Given the description of an element on the screen output the (x, y) to click on. 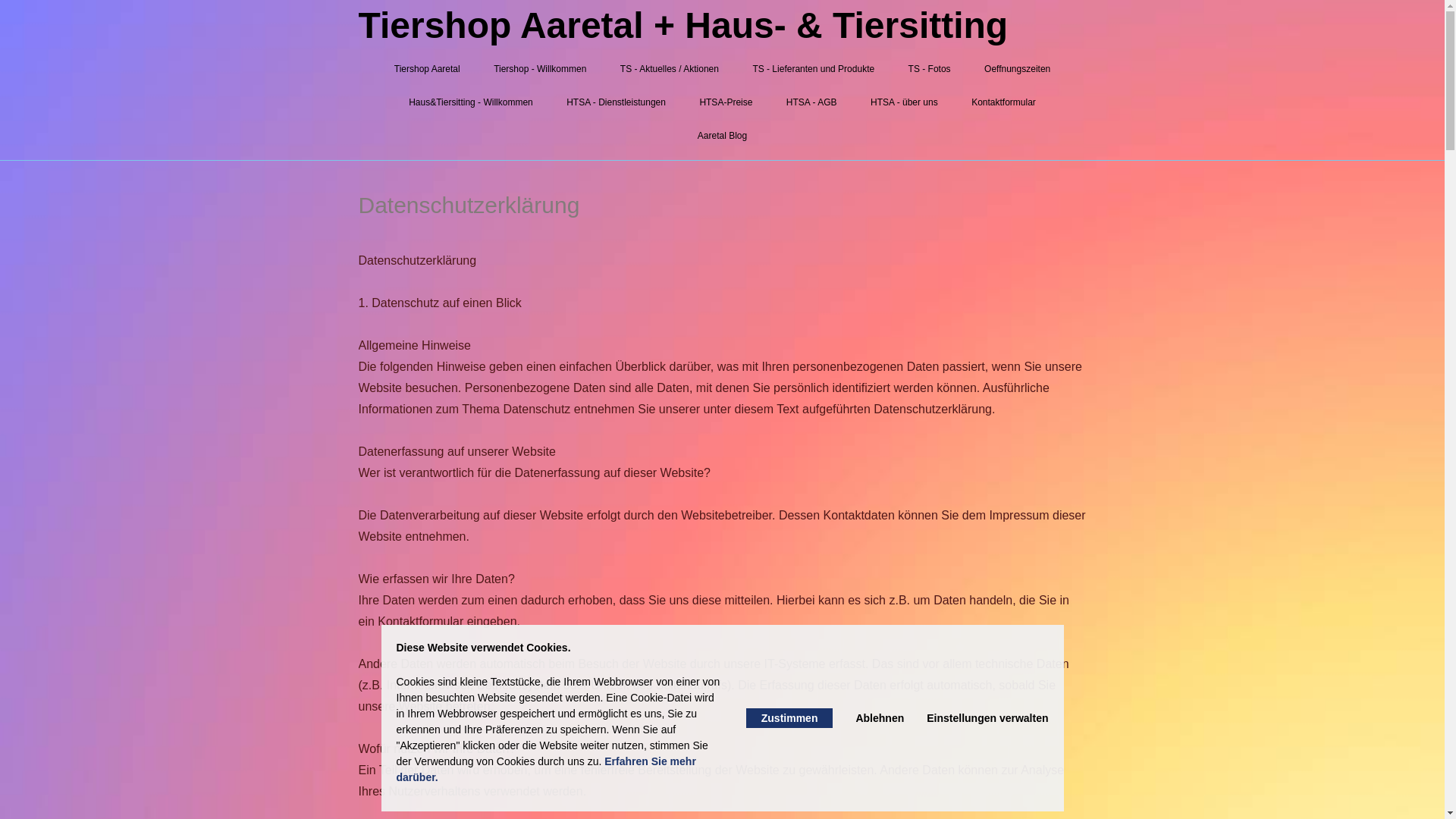
HTSA - Dienstleistungen Element type: text (615, 102)
Ablehnen Element type: text (879, 718)
Kontaktformular Element type: text (1003, 102)
TS - Lieferanten und Produkte Element type: text (813, 68)
Oeffnungszeiten Element type: text (1017, 68)
HTSA-Preise Element type: text (725, 102)
Zustimmen Element type: text (789, 718)
Tiershop - Willkommen Element type: text (539, 68)
Einstellungen verwalten Element type: text (987, 718)
Tiershop Aaretal + Haus- & Tiersitting Element type: text (682, 25)
Tiershop Aaretal Element type: text (427, 68)
TS - Fotos Element type: text (929, 68)
TS - Aktuelles / Aktionen Element type: text (669, 68)
Aaretal Blog Element type: text (722, 135)
Haus&Tiersitting - Willkommen Element type: text (470, 102)
HTSA - AGB Element type: text (811, 102)
